Given the description of an element on the screen output the (x, y) to click on. 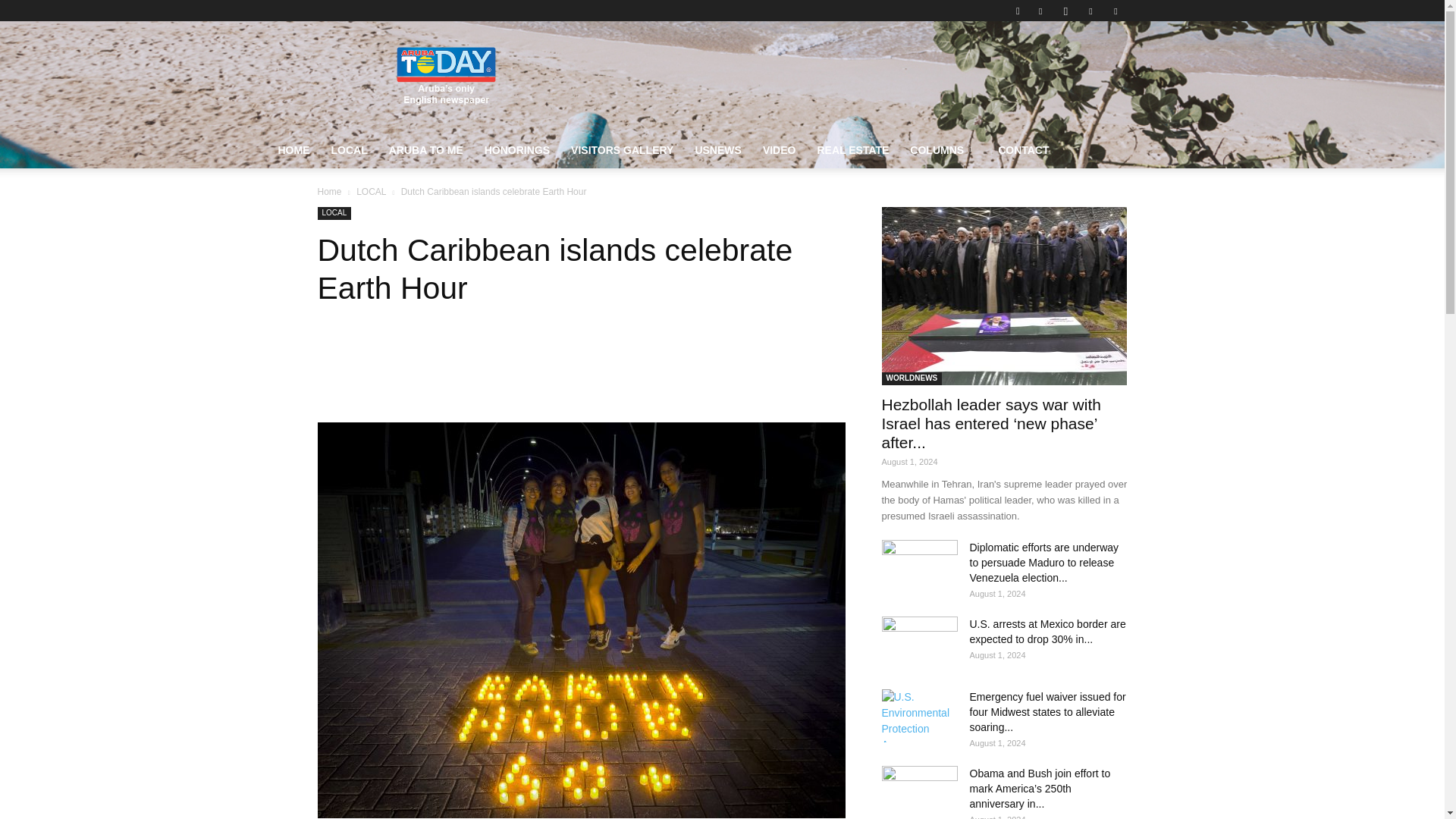
VISITORS GALLERY (622, 149)
Youtube (1114, 10)
Search (1085, 64)
LOCAL (348, 149)
VIDEO (779, 149)
HONORINGS (517, 149)
HOME (293, 149)
Mail (1090, 10)
Instagram (1065, 10)
Facebook (1040, 10)
